Given the description of an element on the screen output the (x, y) to click on. 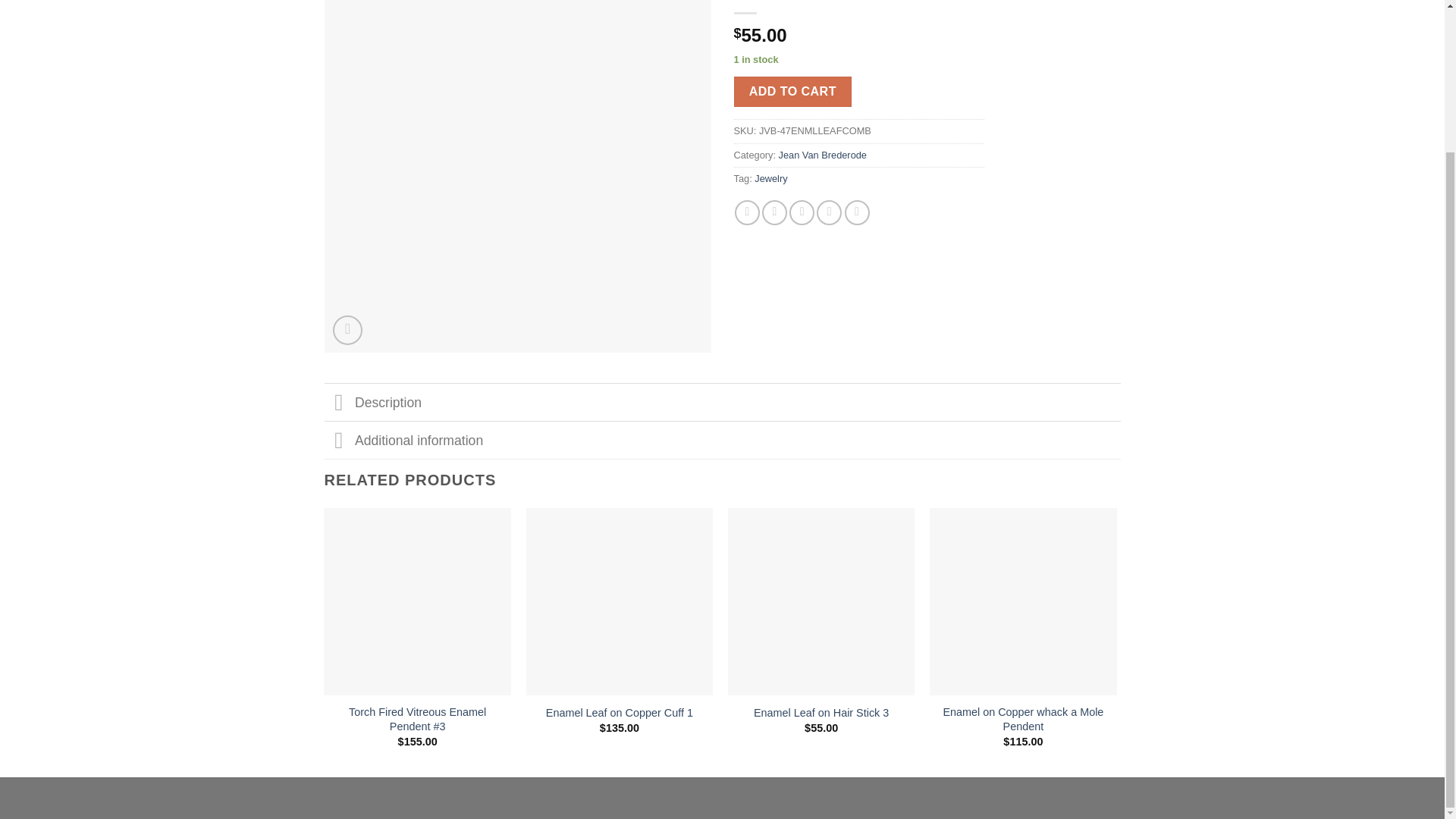
Share on Facebook (747, 212)
Zoom (347, 329)
Email to a Friend (801, 212)
Share on Twitter (774, 212)
Pin on Pinterest (828, 212)
Share on LinkedIn (856, 212)
